Given the description of an element on the screen output the (x, y) to click on. 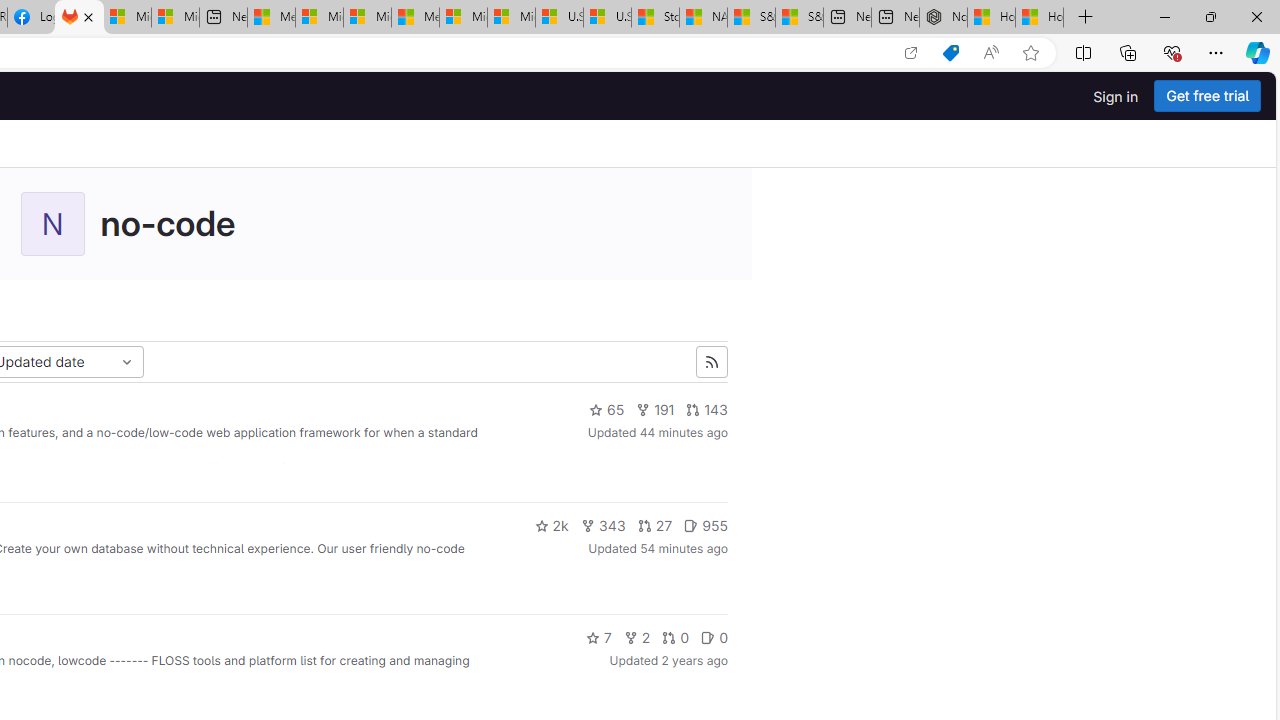
2k (551, 525)
Get free trial (1207, 95)
7 (597, 637)
Sign in (1115, 95)
Open in app (910, 53)
Get free trial (1207, 95)
